Given the description of an element on the screen output the (x, y) to click on. 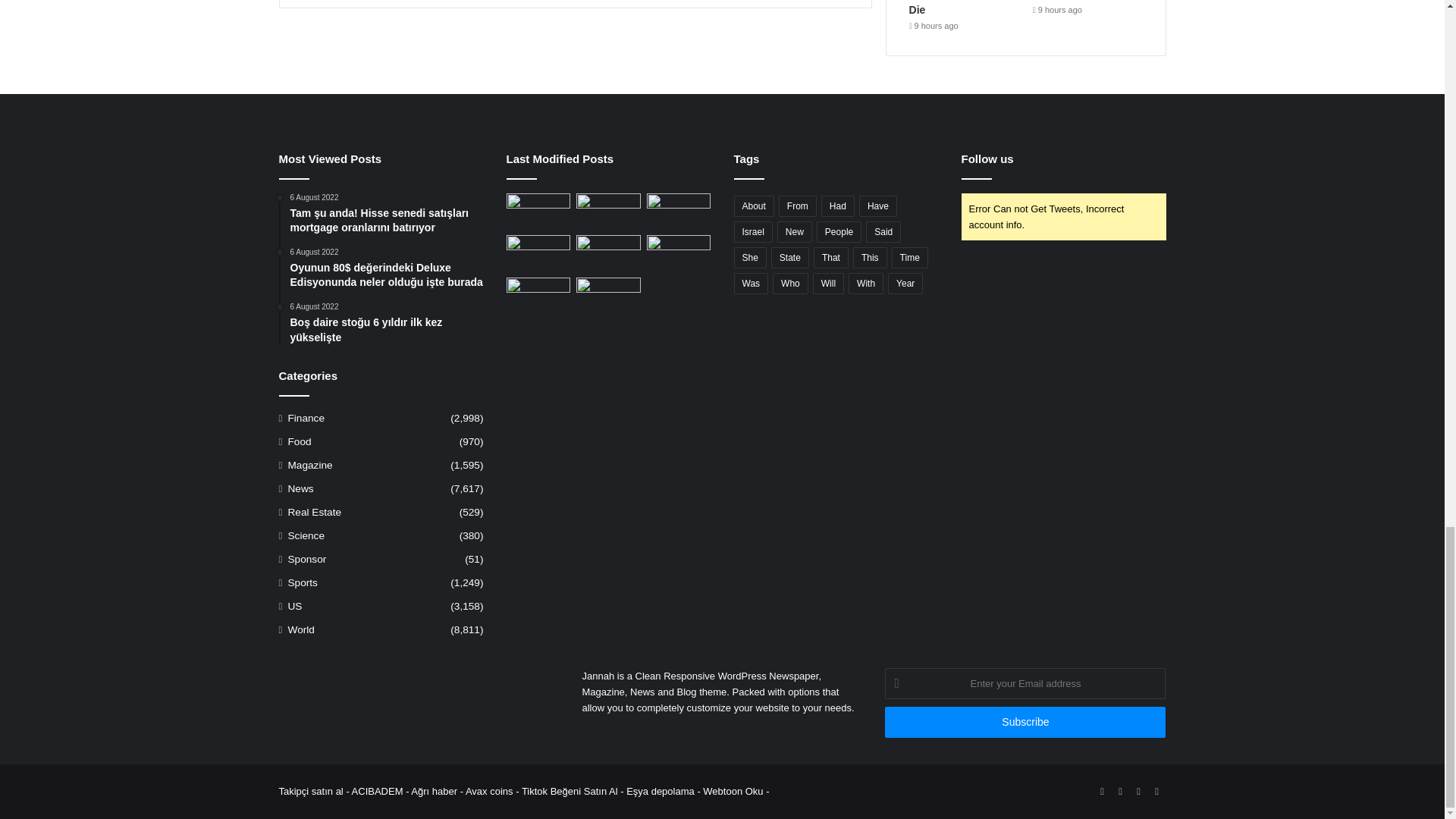
Subscribe (1025, 721)
